Given the description of an element on the screen output the (x, y) to click on. 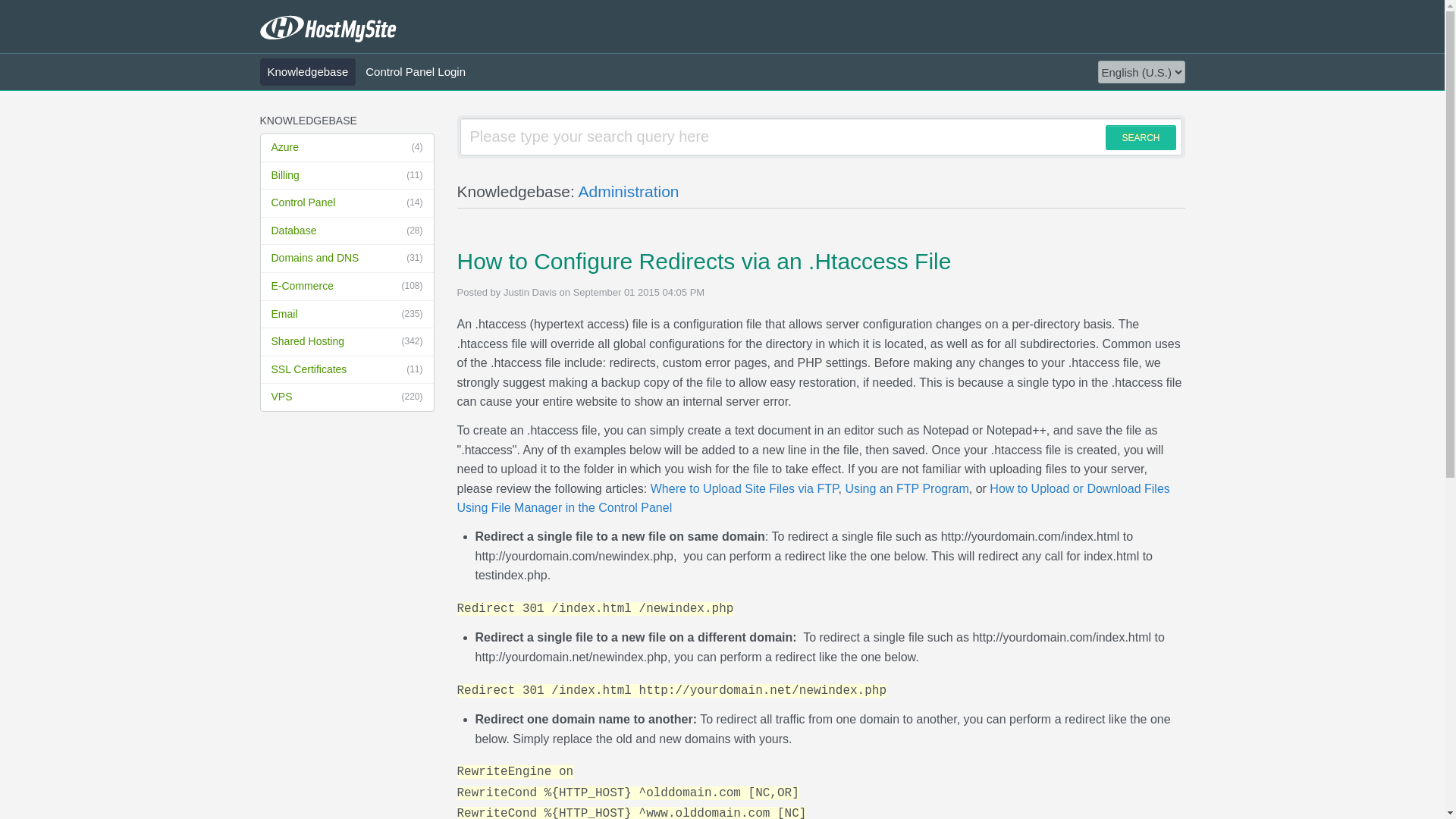
Knowledgebase (307, 71)
Where to Upload Site Files via FTP (744, 488)
SEARCH (1139, 137)
Control Panel Login (415, 71)
Administration (628, 190)
Using an FTP Program (906, 488)
Please type your search query here (820, 136)
Please type your search query here (820, 136)
Login (403, 296)
